Given the description of an element on the screen output the (x, y) to click on. 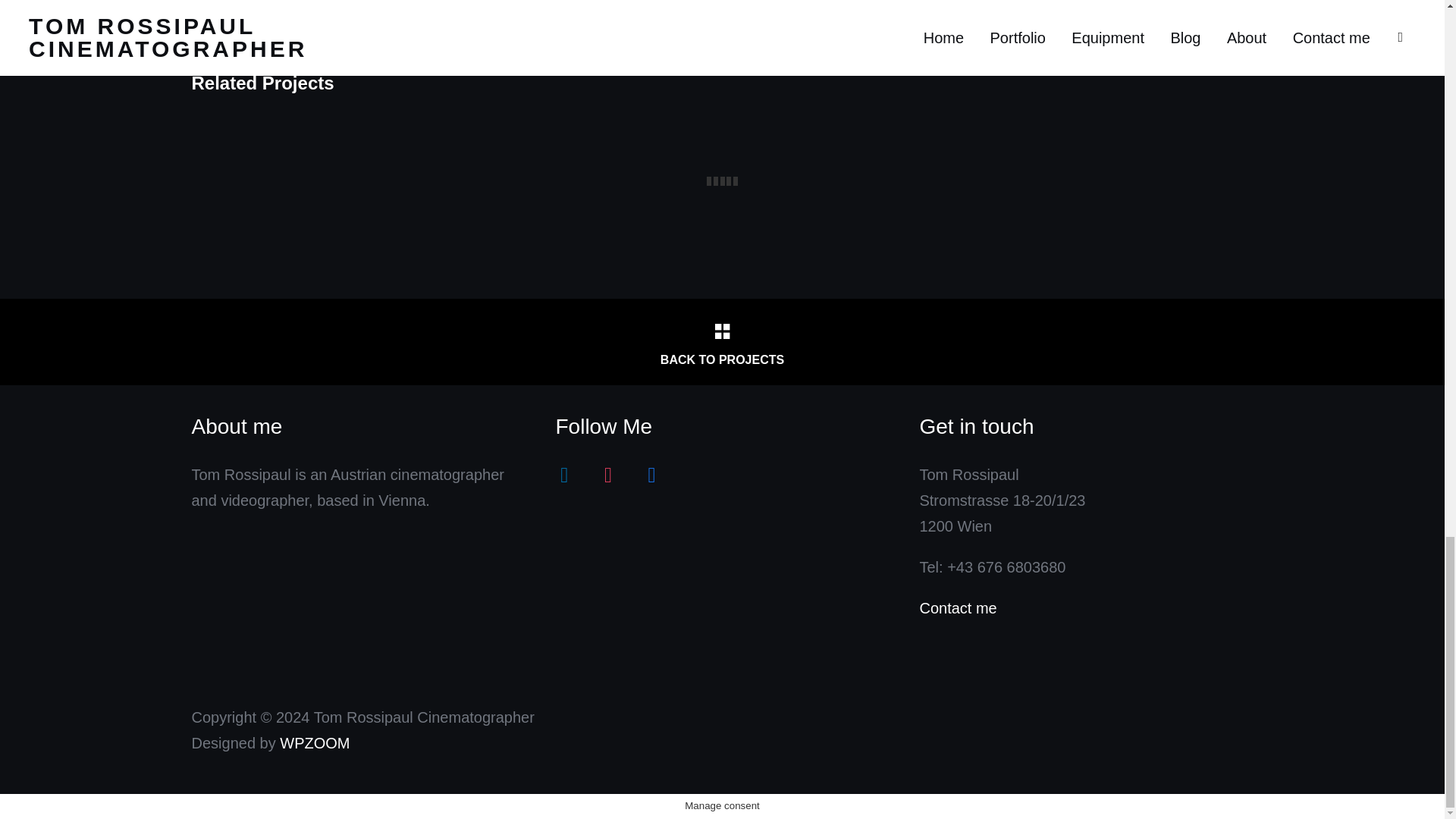
instagram (607, 474)
BACK TO PROJECTS (721, 342)
facebook (651, 474)
Default Label (651, 474)
linkedin (563, 474)
Default Label (563, 474)
Contact me (956, 607)
